Given the description of an element on the screen output the (x, y) to click on. 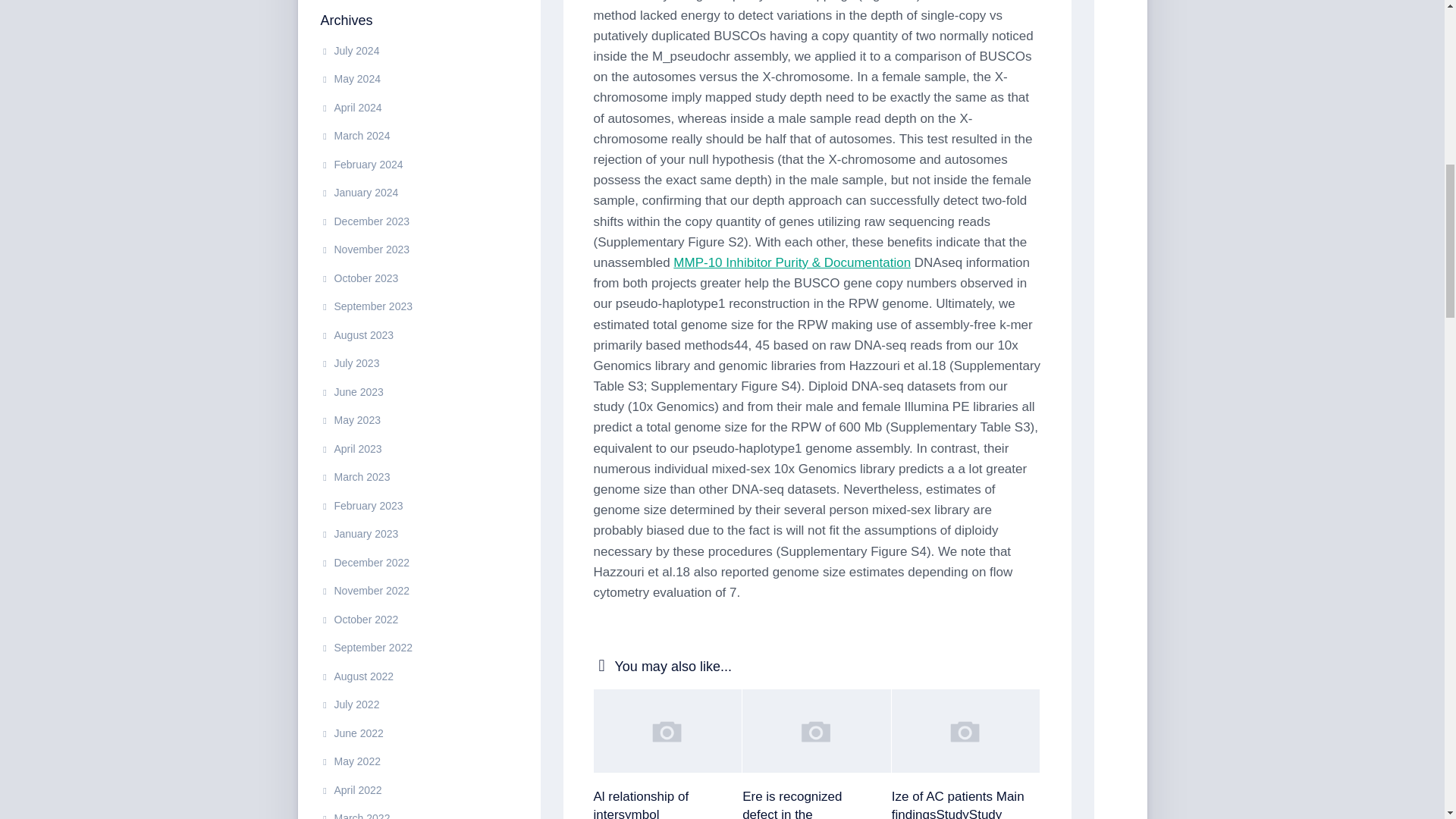
July 2023 (349, 363)
May 2024 (350, 78)
February 2023 (361, 505)
April 2022 (350, 789)
June 2023 (351, 391)
March 2022 (355, 815)
January 2024 (358, 192)
October 2022 (358, 619)
February 2024 (361, 164)
August 2022 (356, 676)
May 2022 (350, 761)
January 2023 (358, 533)
December 2023 (364, 221)
March 2023 (355, 476)
May 2023 (350, 419)
